Given the description of an element on the screen output the (x, y) to click on. 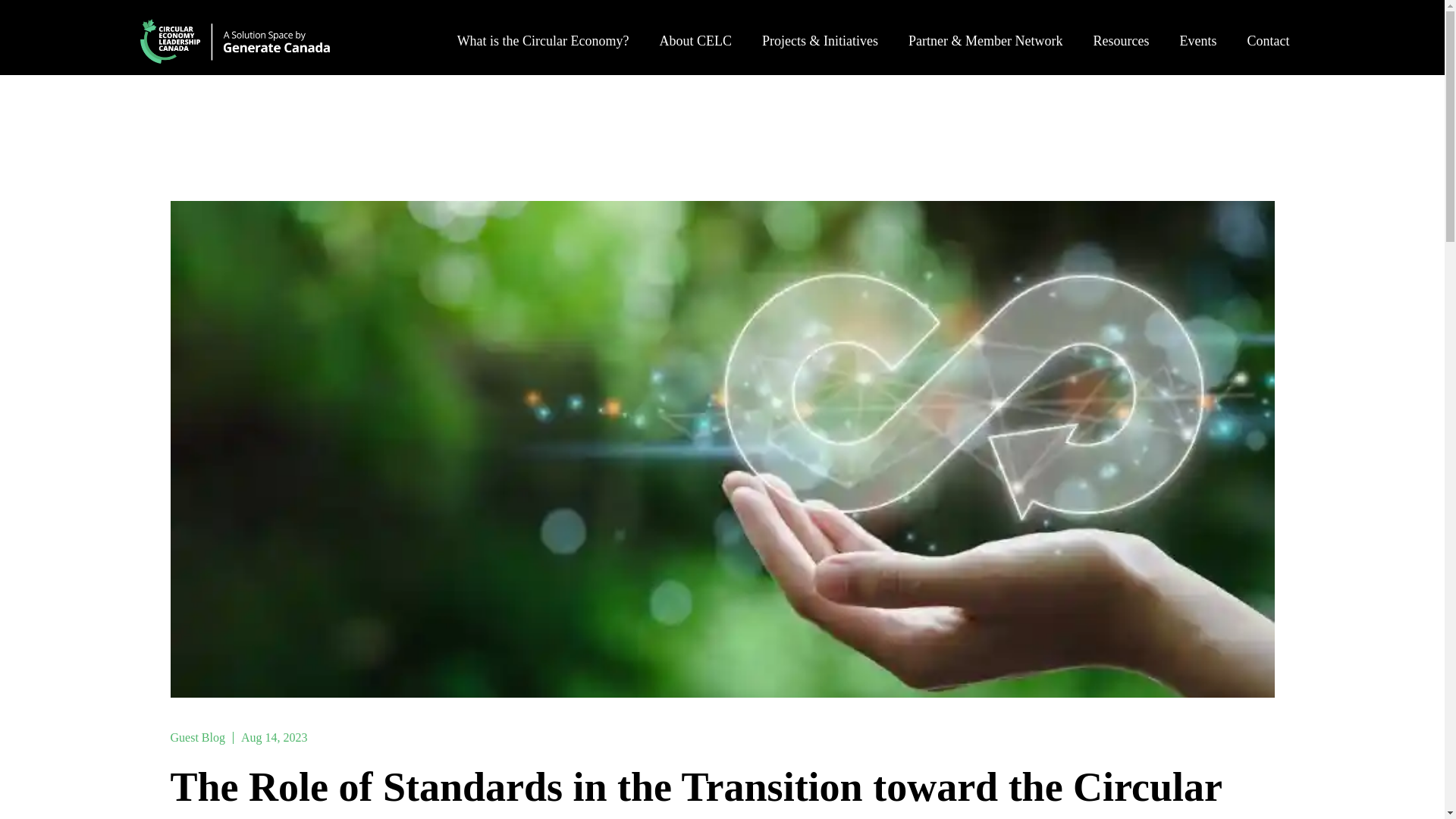
Events (1197, 28)
Resources (1121, 28)
Contact (1268, 28)
About CELC (696, 28)
What is the Circular Economy? (542, 28)
